Given the description of an element on the screen output the (x, y) to click on. 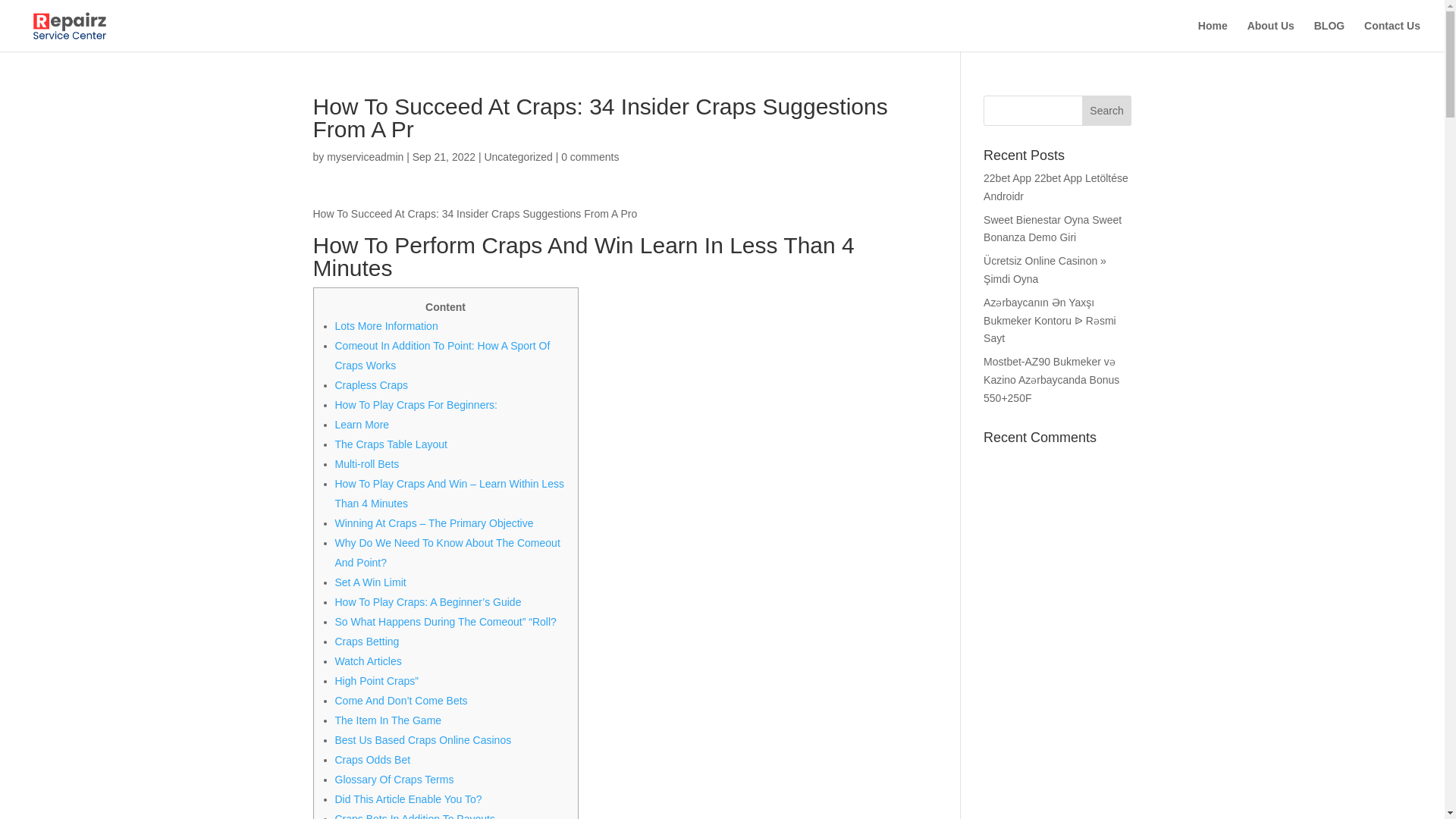
Set A Win Limit (370, 582)
How To Play Craps For Beginners: (415, 404)
Search (1106, 110)
Learn More (362, 424)
Did This Article Enable You To? (407, 799)
Craps Bets In Addition To Payouts (414, 816)
Craps Odds Bet (372, 759)
Best Us Based Craps Online Casinos (423, 739)
Lots More Information (386, 326)
Home (1212, 35)
About Us (1270, 35)
Uncategorized (517, 156)
Craps Betting (366, 641)
myserviceadmin (364, 156)
Crapless Craps (370, 385)
